Given the description of an element on the screen output the (x, y) to click on. 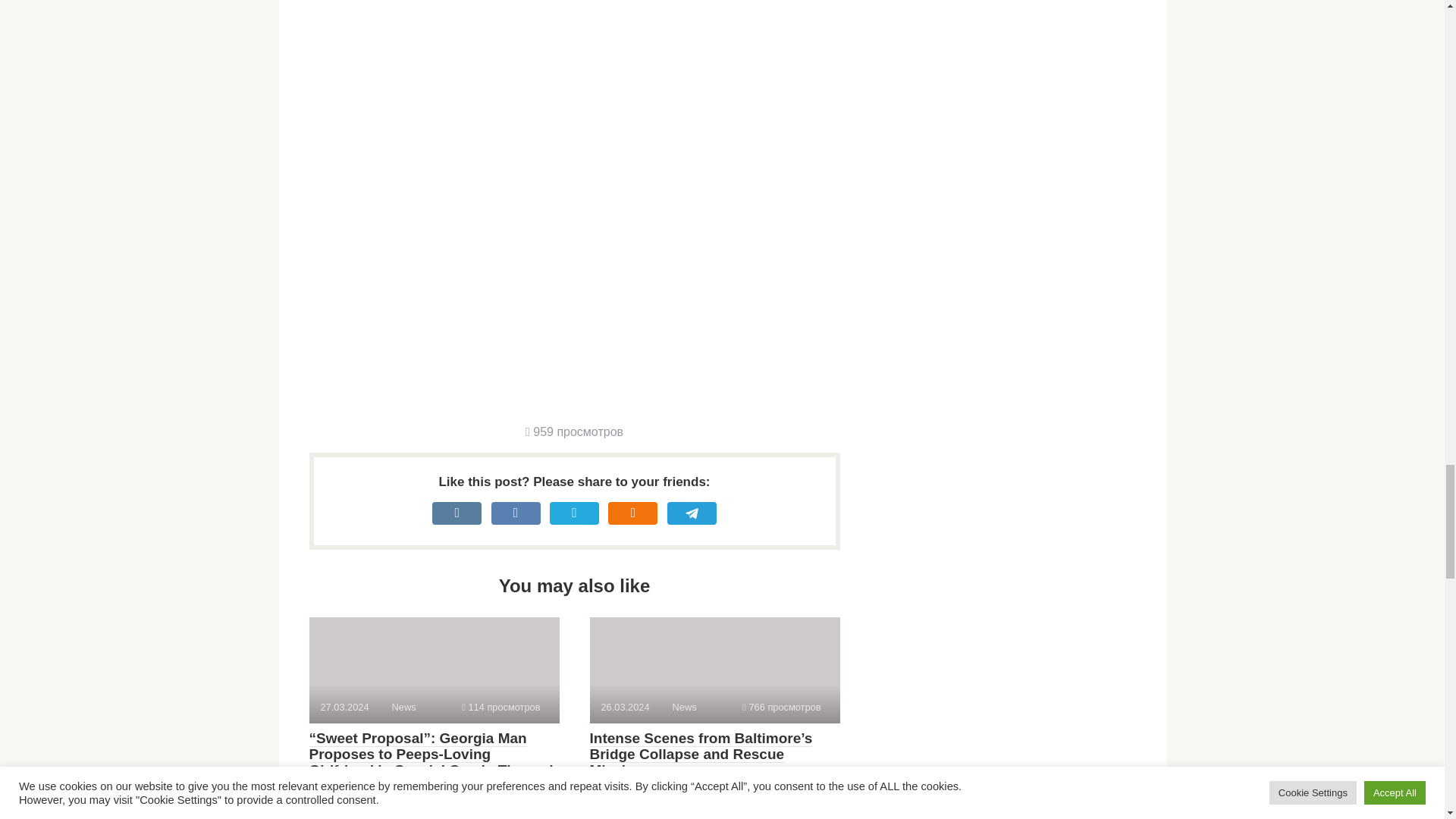
Views (500, 706)
Views (574, 431)
Views (781, 706)
